Given the description of an element on the screen output the (x, y) to click on. 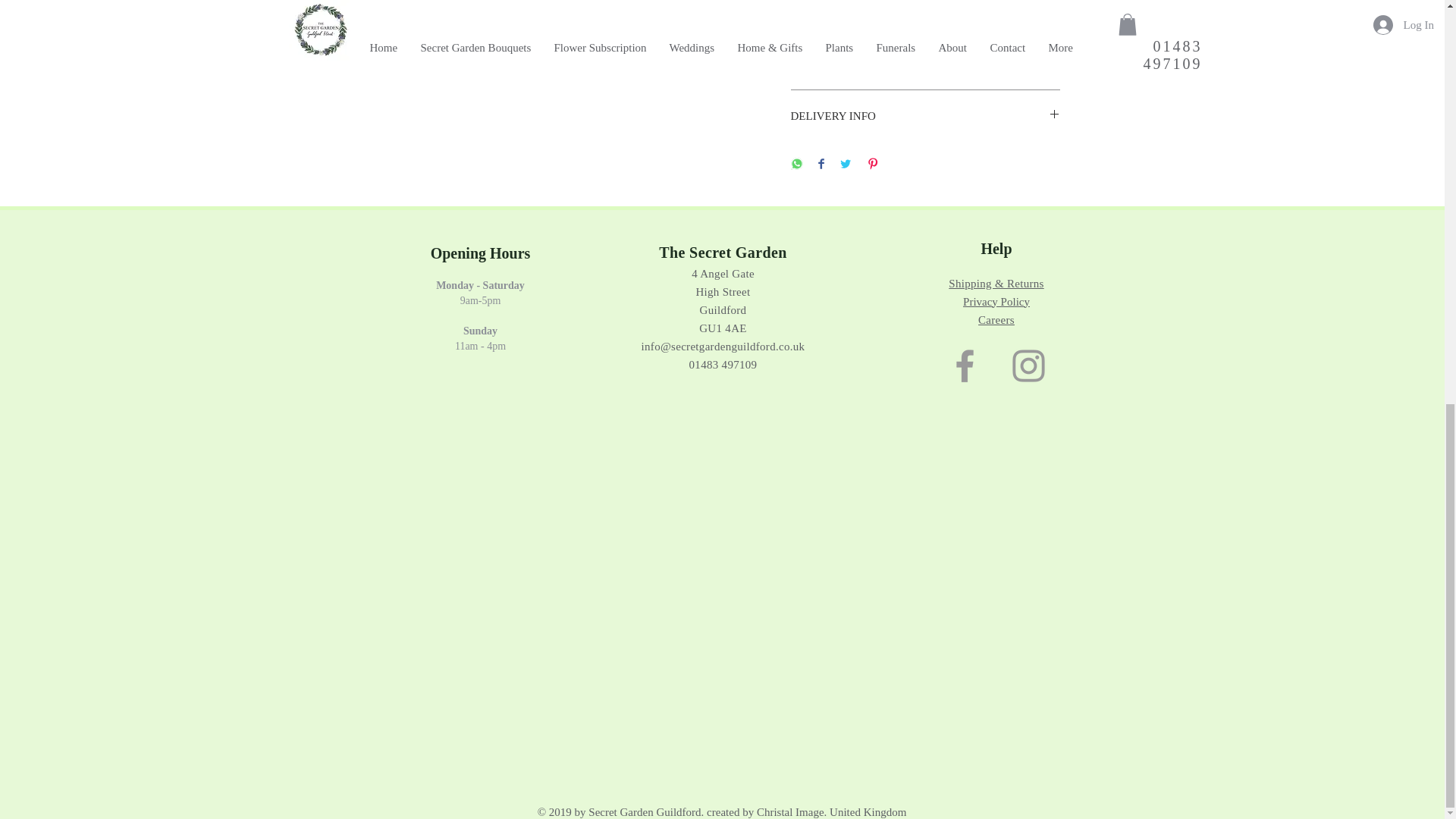
DELIVERY INFO (924, 116)
Careers (996, 319)
Privacy Policy (995, 301)
